Given the description of an element on the screen output the (x, y) to click on. 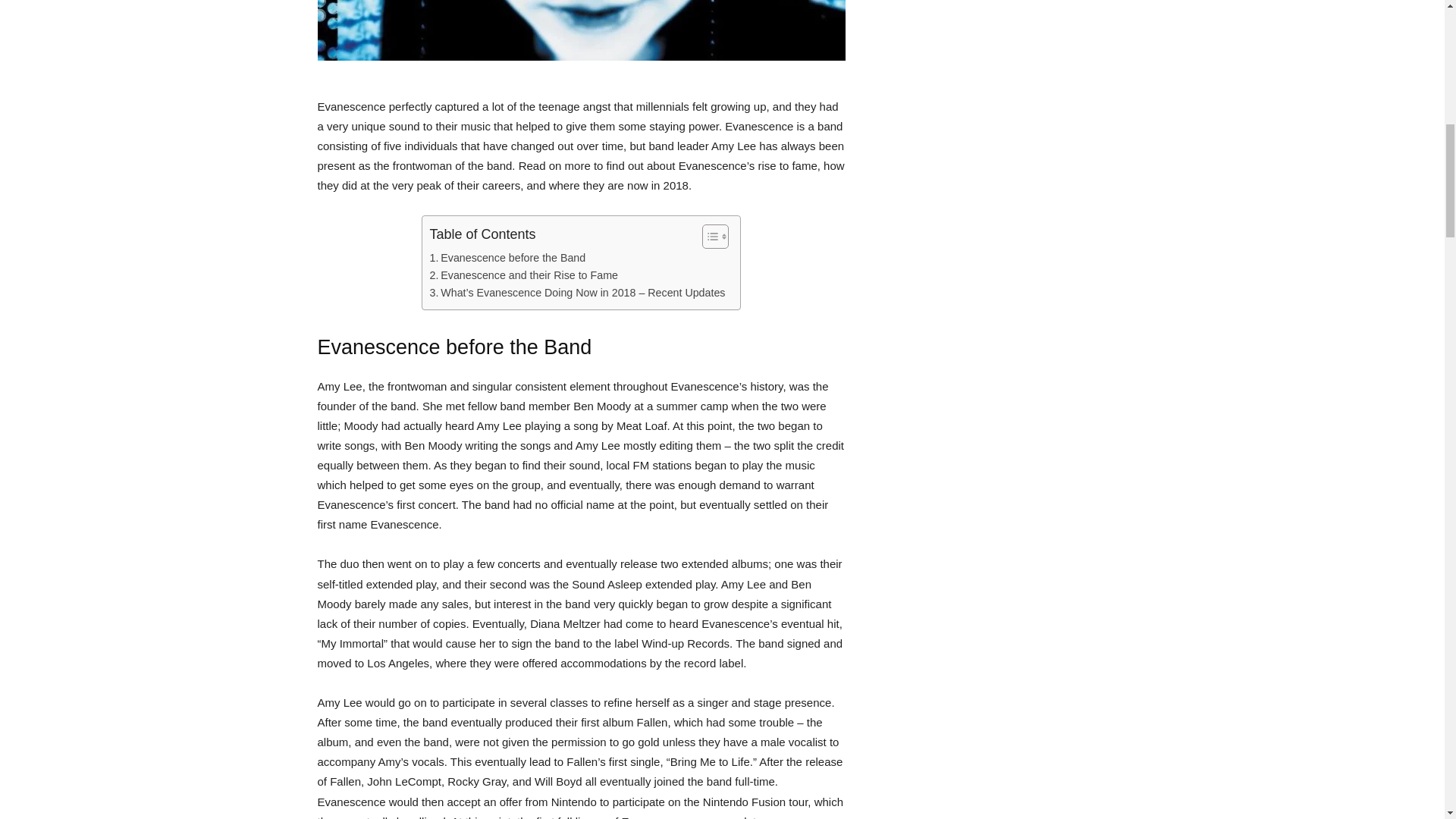
Evanescence before the Band (507, 257)
1a (580, 30)
Evanescence and their Rise to Fame (523, 275)
Evanescence before the Band (507, 257)
